Given the description of an element on the screen output the (x, y) to click on. 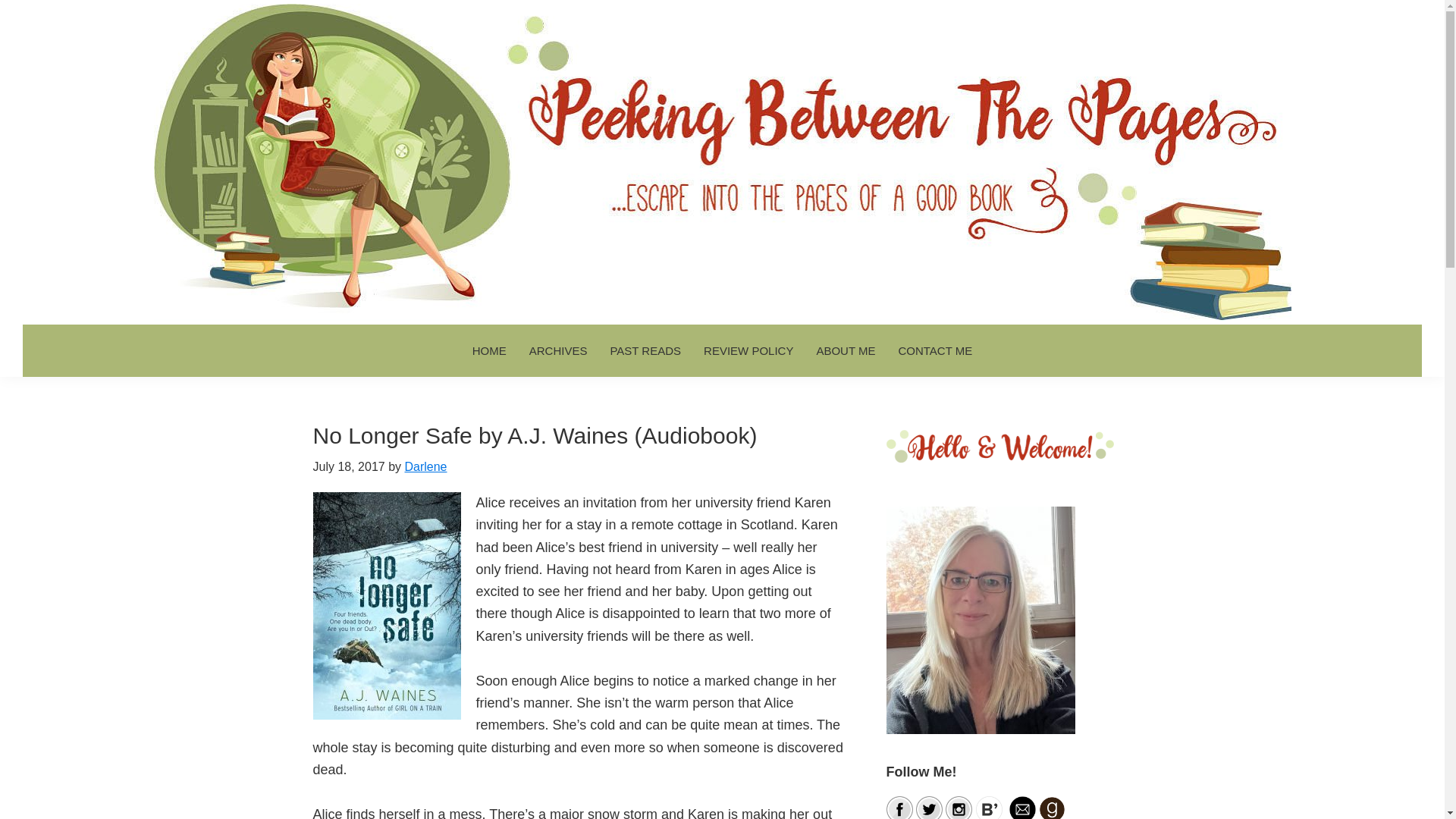
ABOUT ME (845, 350)
CONTACT ME (935, 350)
HOME (489, 350)
Darlene (425, 466)
ARCHIVES (558, 350)
PAST READS (645, 350)
REVIEW POLICY (749, 350)
